Given the description of an element on the screen output the (x, y) to click on. 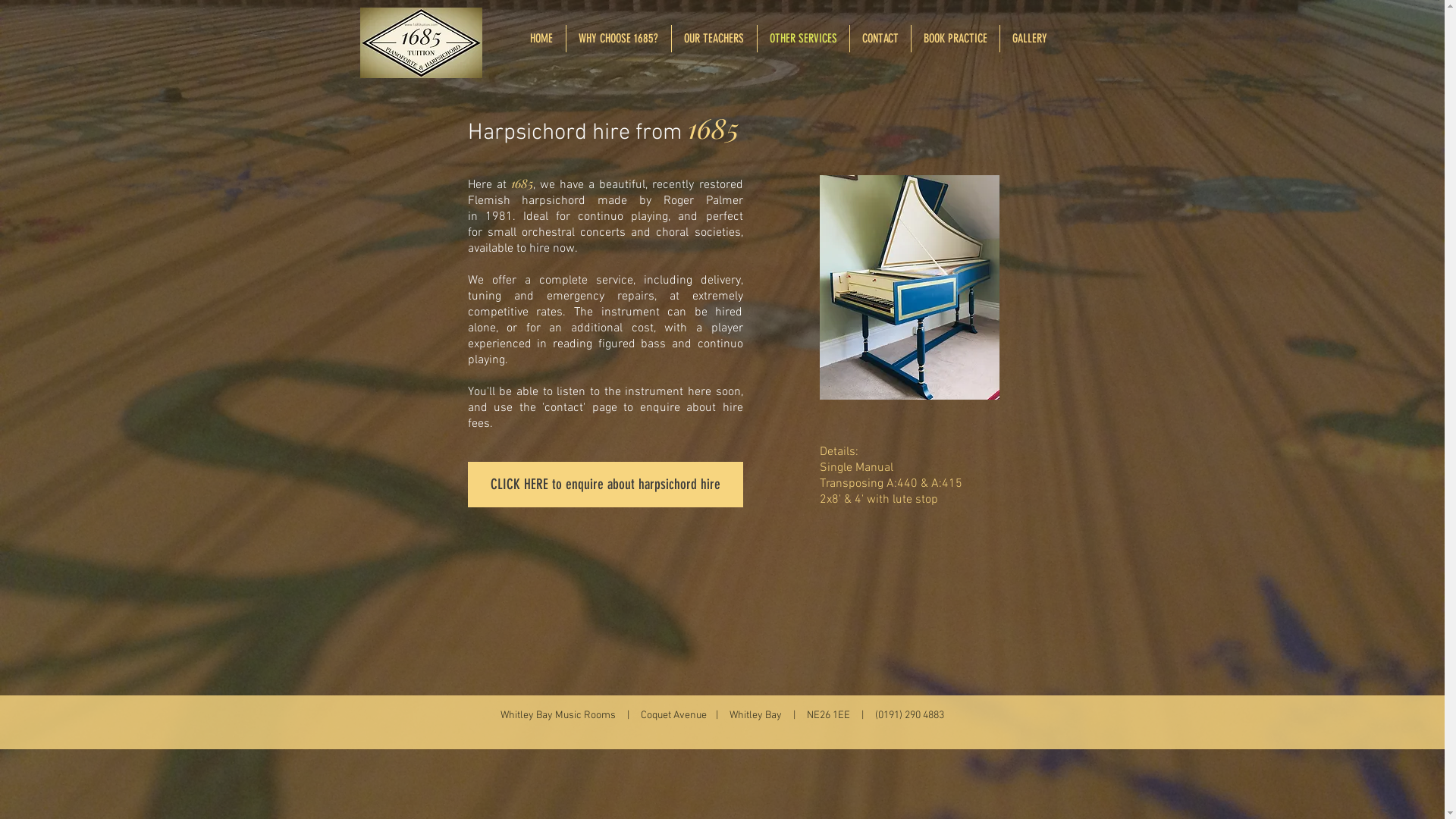
OTHER SERVICES Element type: text (802, 38)
CLICK HERE to enquire about harpsichord hire Element type: text (604, 484)
BOOK PRACTICE Element type: text (955, 38)
HOME Element type: text (540, 38)
WHY CHOOSE 1685? Element type: text (617, 38)
CONTACT Element type: text (879, 38)
OUR TEACHERS Element type: text (713, 38)
GALLERY Element type: text (1028, 38)
